Given the description of an element on the screen output the (x, y) to click on. 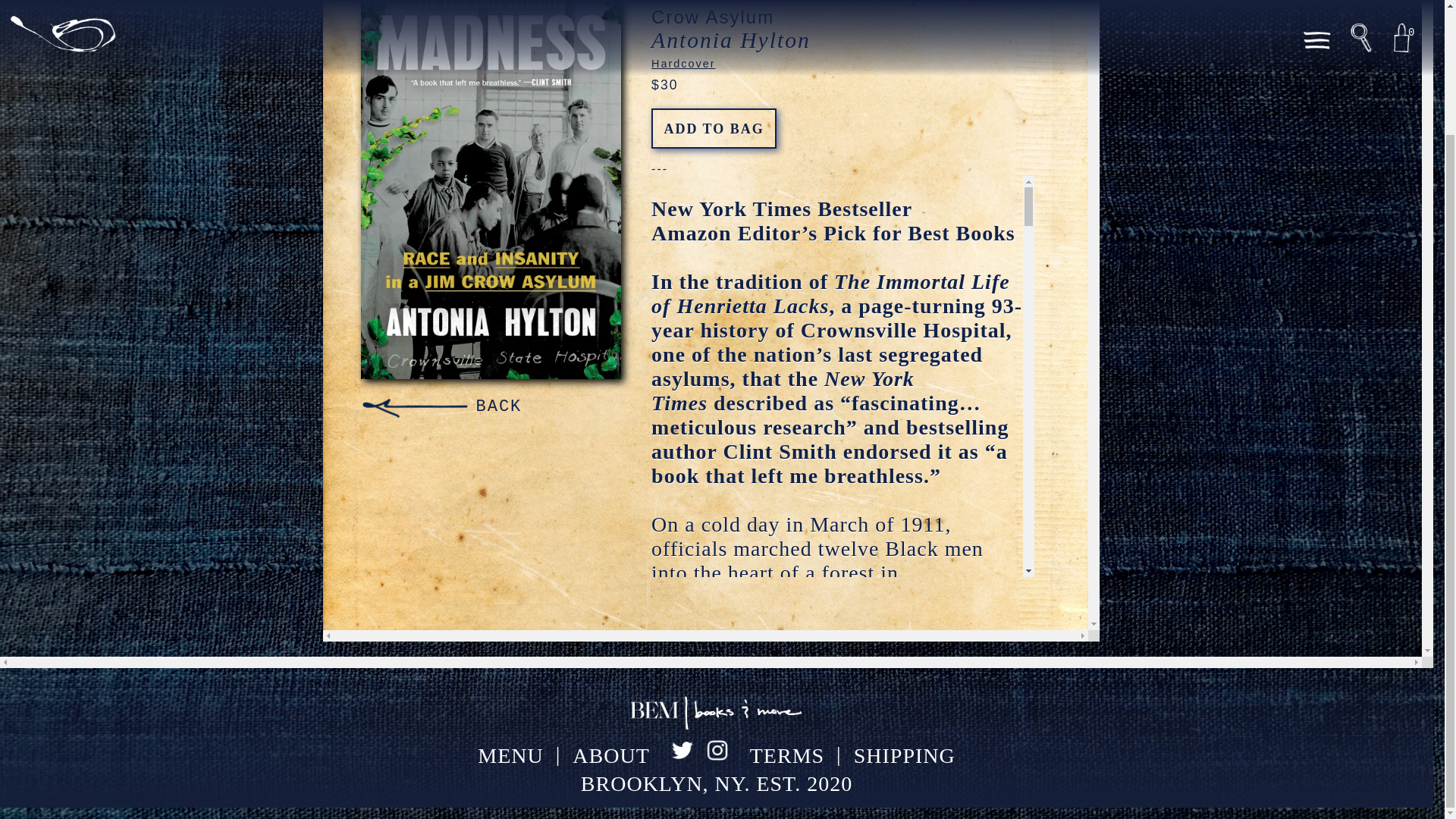
ADD TO BAG (713, 128)
BACK (441, 405)
TERMS (786, 755)
ABOUT (610, 755)
Hardcover (682, 63)
Go back (441, 405)
MENU (510, 755)
SHIPPING (904, 755)
